Given the description of an element on the screen output the (x, y) to click on. 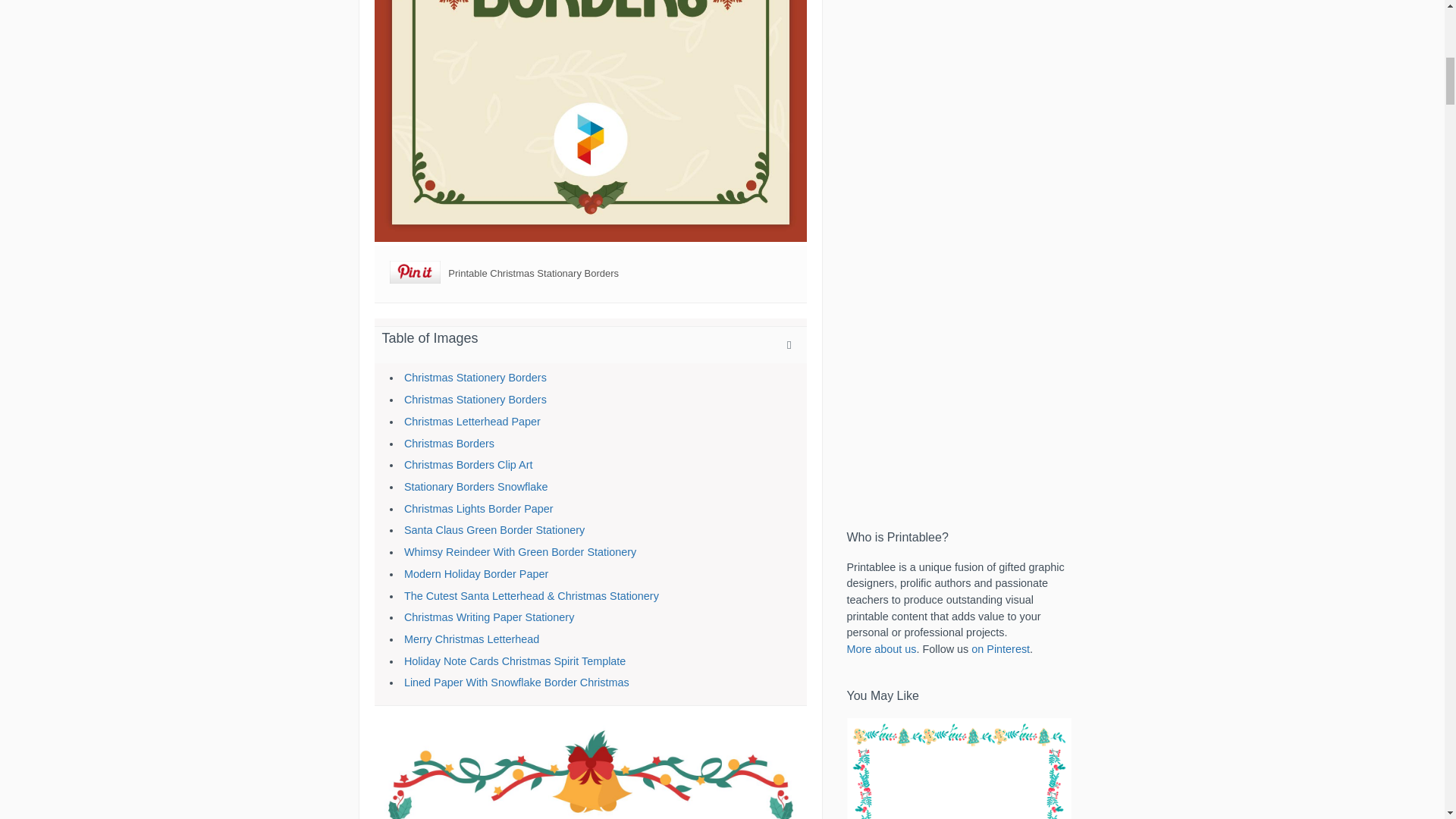
Pin it! (415, 273)
Christmas Writing Paper Stationery (488, 616)
Modern Holiday Border Paper (476, 573)
Stationary Borders Snowflake (476, 486)
Christmas Stationary Borders (590, 120)
Whimsy Reindeer With Green Border Stationery (520, 551)
Christmas Lights Border Paper (478, 508)
Merry Christmas Letterhead (471, 639)
Christmas Stationery Borders (475, 377)
Holiday Note Cards Christmas Spirit Template (515, 661)
Christmas Letterhead Paper (472, 421)
Printable Christmas Stationery Borders (590, 770)
Lined Paper With Snowflake Border Christmas (516, 682)
Christmas Borders (449, 443)
Christmas Borders Clip Art (468, 464)
